Given the description of an element on the screen output the (x, y) to click on. 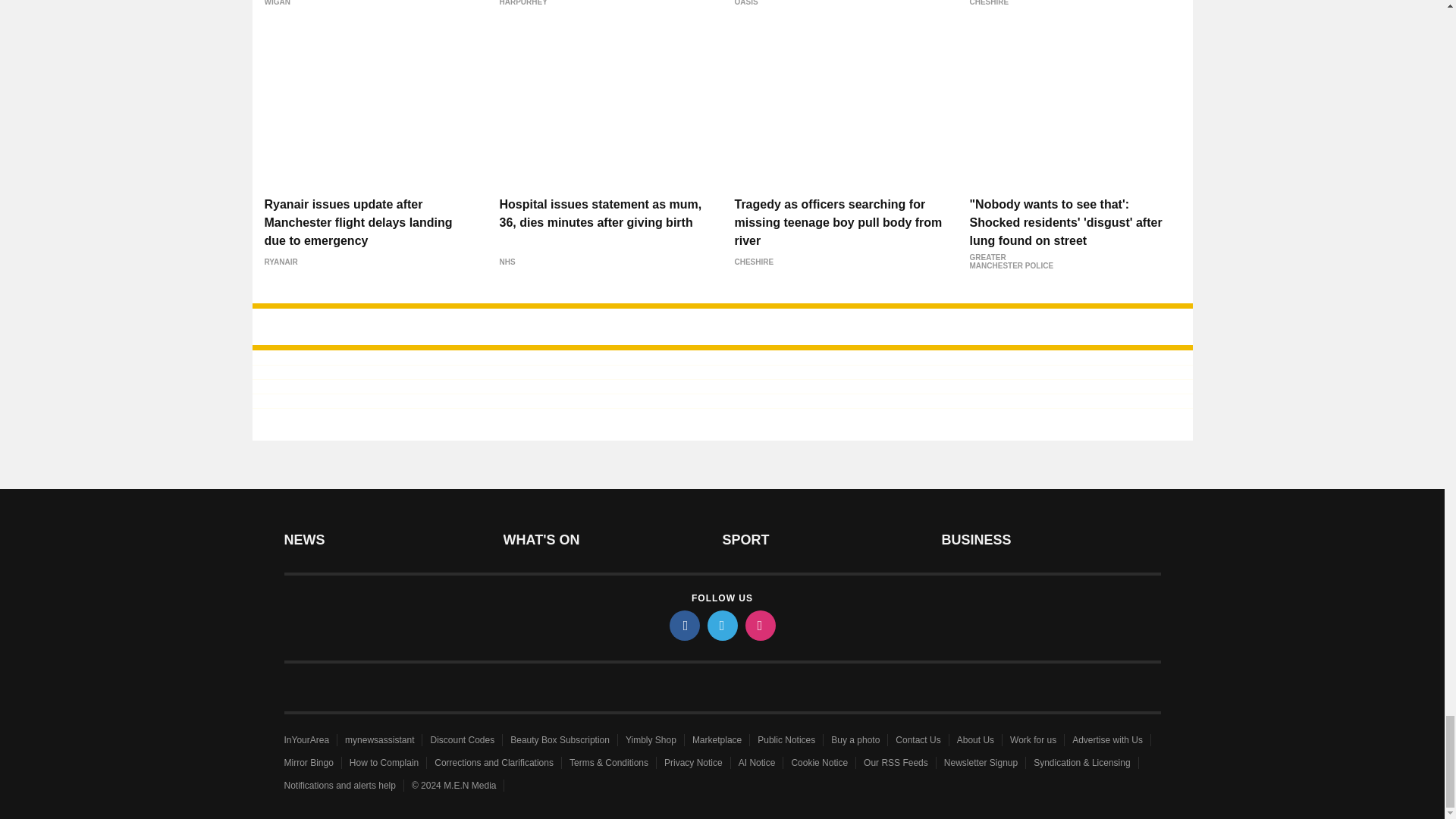
twitter (721, 625)
instagram (759, 625)
facebook (683, 625)
